Given the description of an element on the screen output the (x, y) to click on. 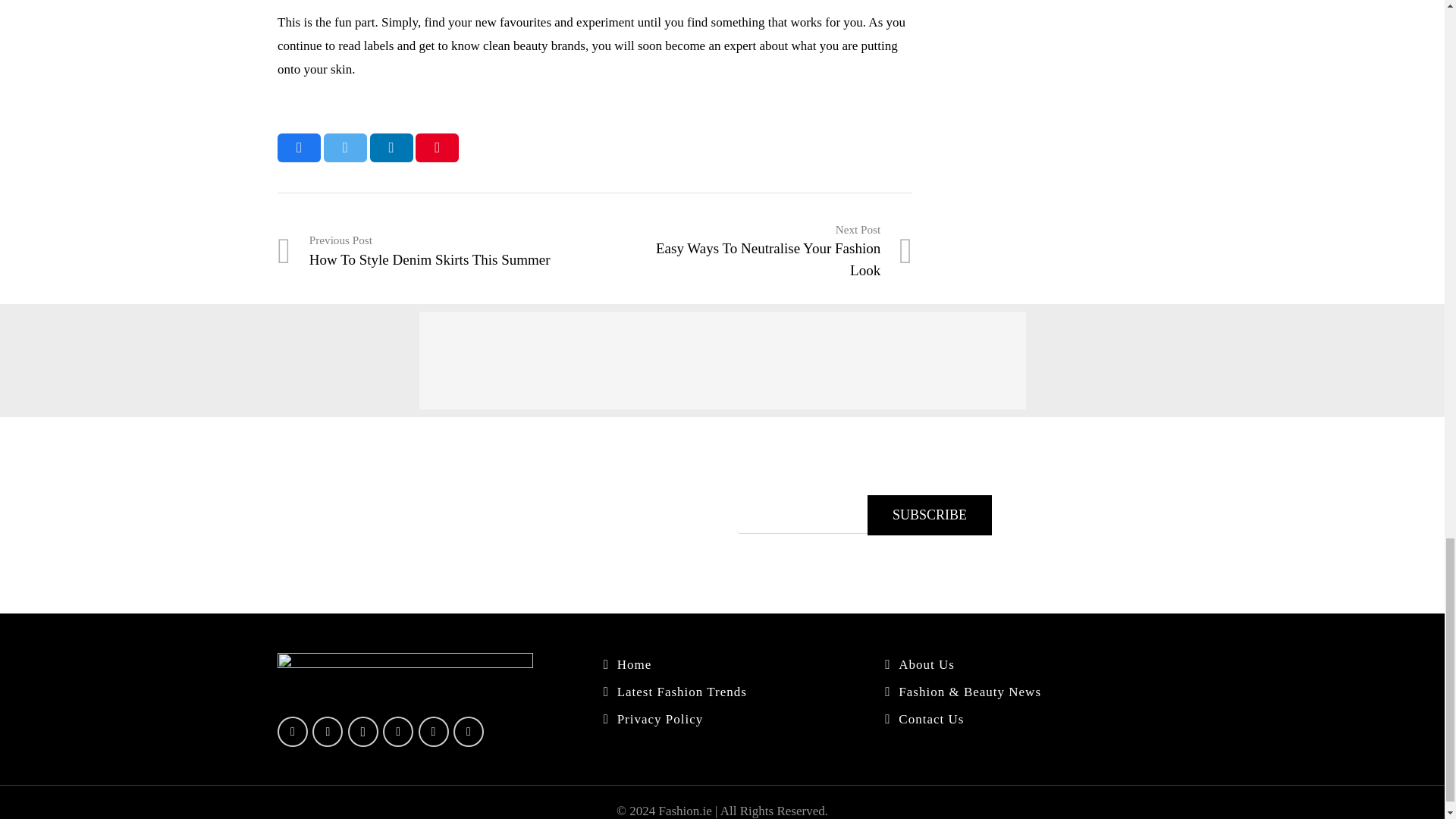
Share this (299, 147)
How To Style Denim Skirts This Summer (436, 251)
Facebook (292, 731)
Tweet this (344, 147)
Subscribe (929, 515)
Twitter (327, 731)
Pin this (753, 251)
Share this (436, 251)
